Given the description of an element on the screen output the (x, y) to click on. 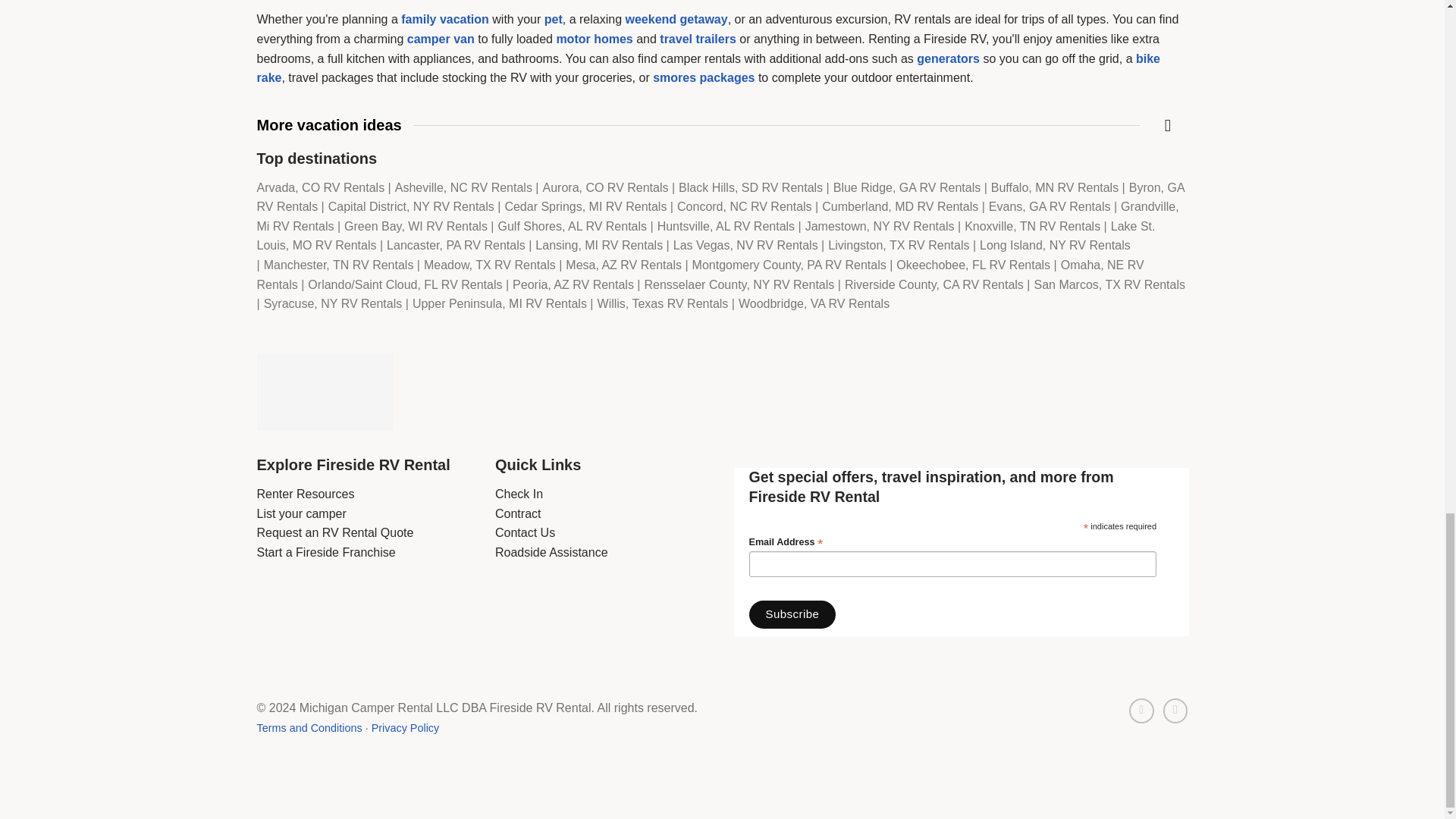
Aurora, CO RV Camper Rentals (606, 187)
Asheville, NC RV Camper Rentals (464, 187)
Arvada, CO RV Camper Rentals (323, 187)
Subscribe (792, 614)
